Given the description of an element on the screen output the (x, y) to click on. 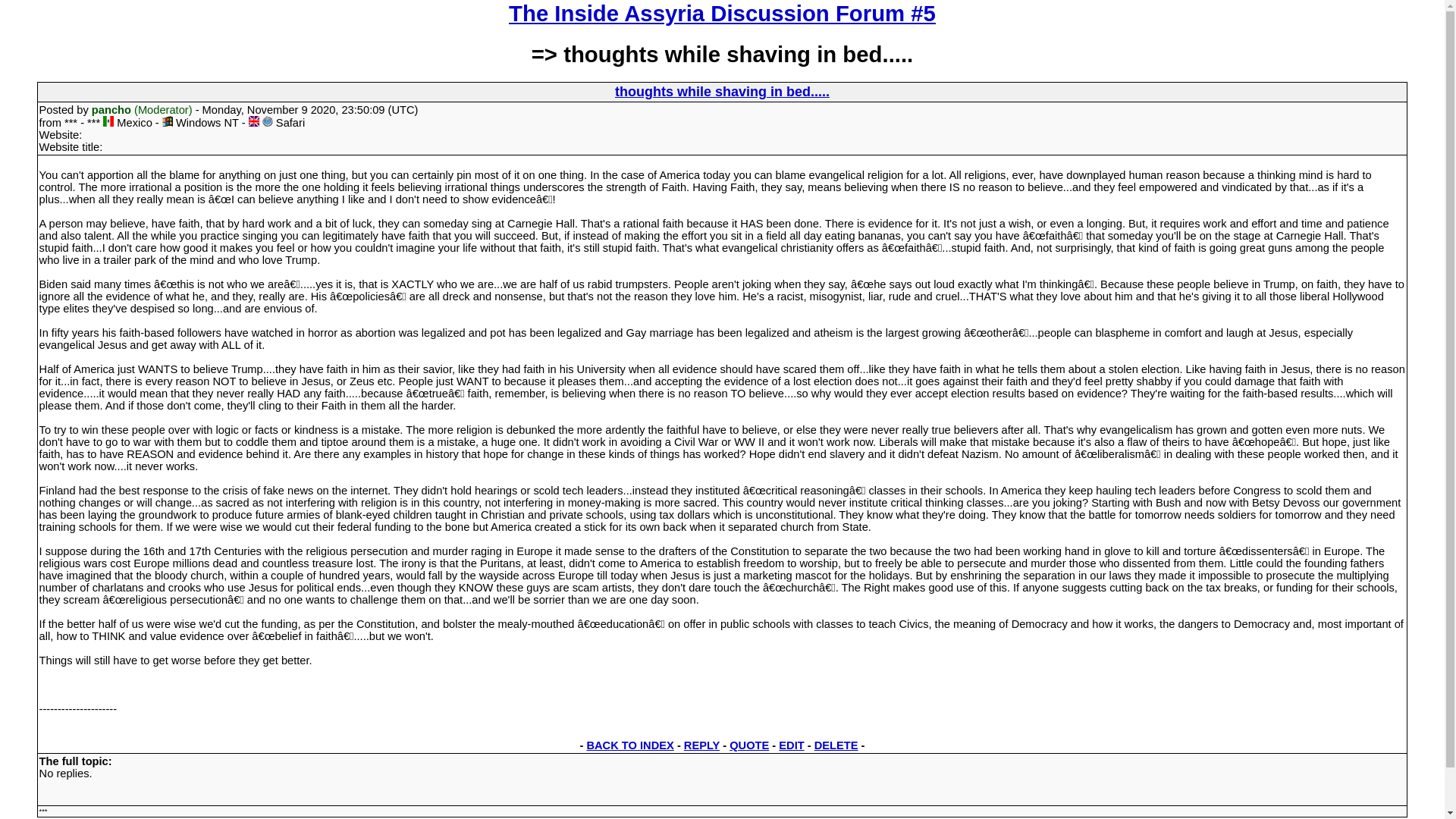
QUOTE (748, 745)
thoughts while shaving in bed..... (721, 91)
REPLY (701, 745)
DELETE (836, 745)
EDIT (790, 745)
BACK TO INDEX (629, 745)
